Given the description of an element on the screen output the (x, y) to click on. 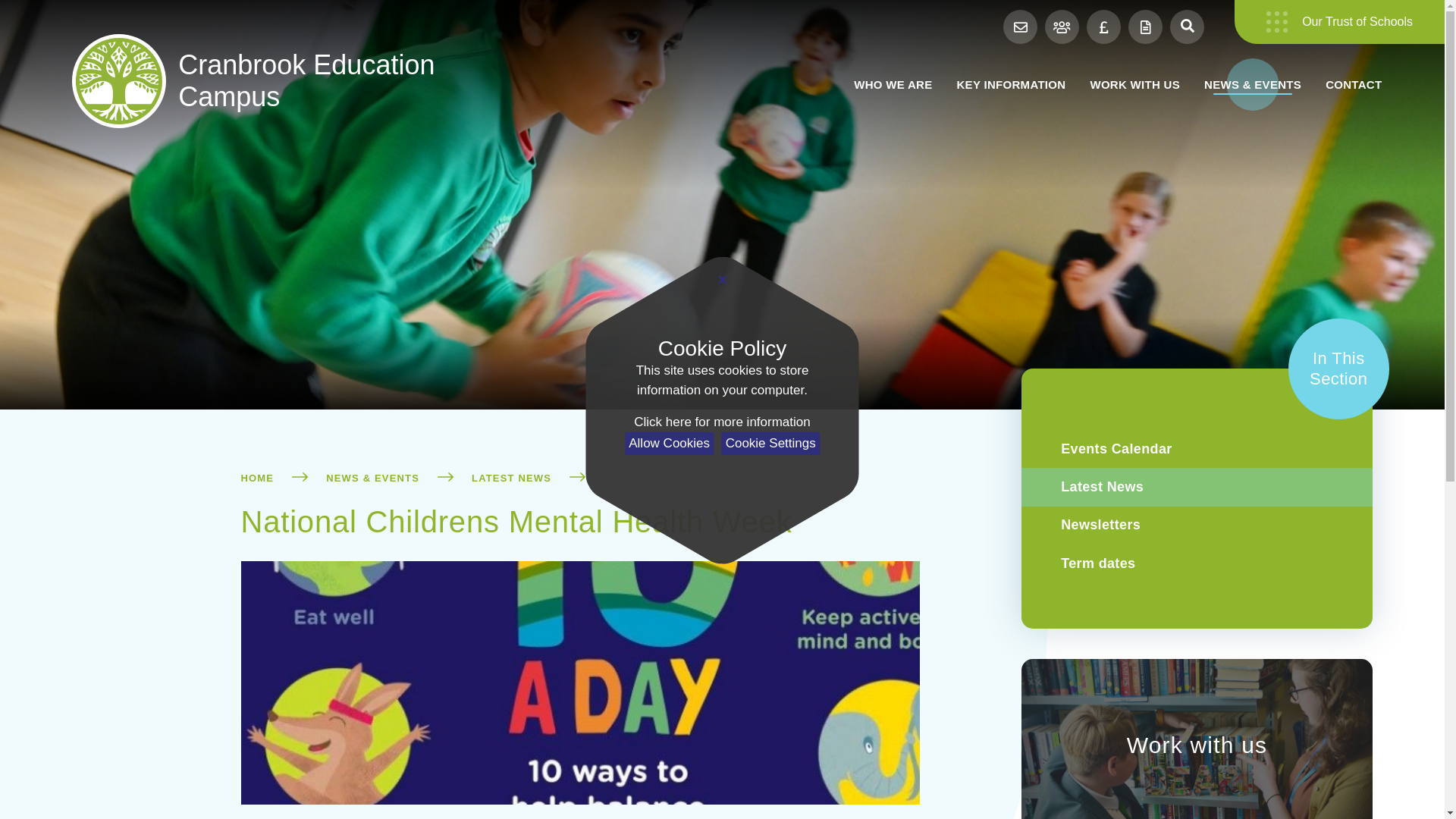
KEY INFORMATION (1010, 84)
WORK WITH US (1134, 84)
WHO WE ARE (892, 84)
